Given the description of an element on the screen output the (x, y) to click on. 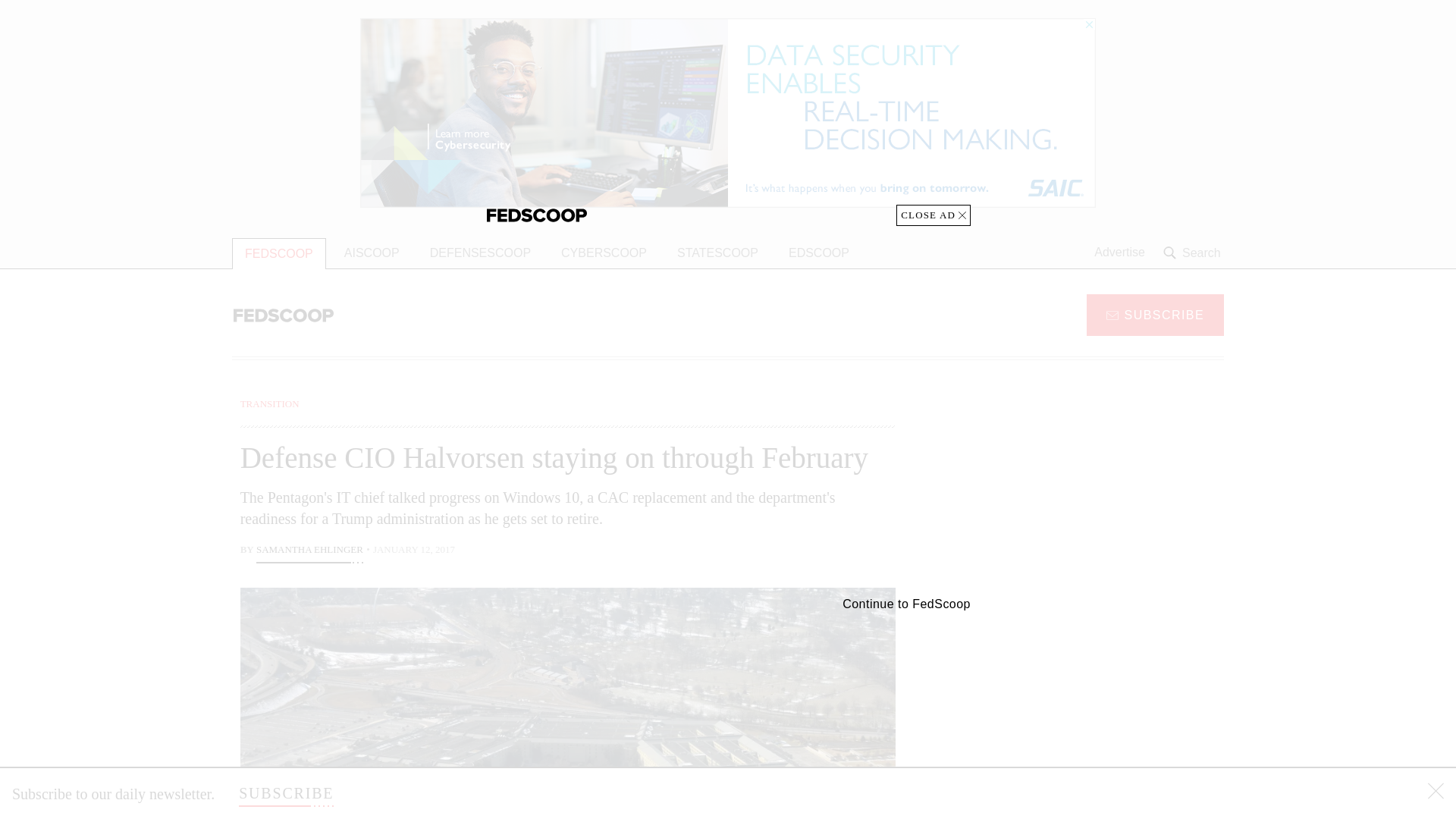
SUBSCRIBE (1155, 314)
EDSCOOP (818, 253)
Search (1193, 252)
TRANSITION (269, 403)
AISCOOP (371, 253)
Advertise (1119, 252)
FEDSCOOP (278, 253)
3rd party ad content (1101, 491)
STATESCOOP (717, 253)
